Given the description of an element on the screen output the (x, y) to click on. 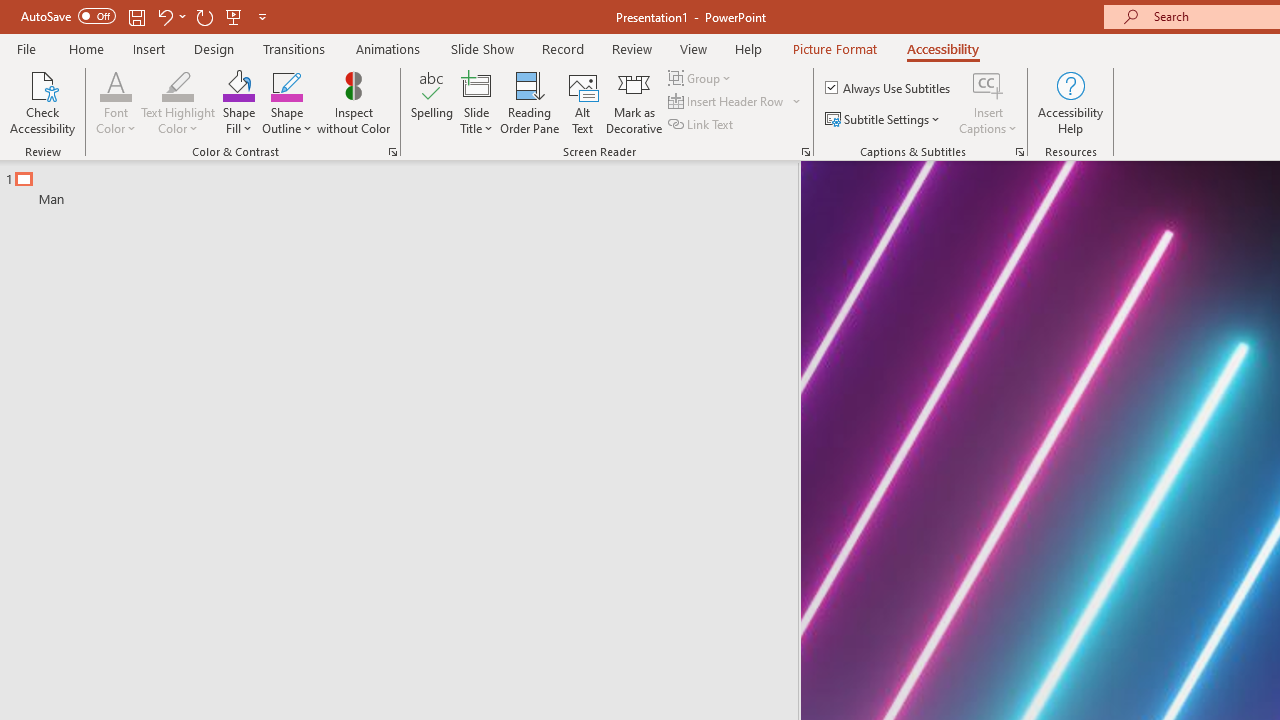
Transitions (294, 48)
Review (631, 48)
Spelling... (432, 102)
Accessibility (942, 48)
AutoSave (68, 16)
Link Text (702, 124)
Quick Access Toolbar (145, 16)
Font Color (116, 102)
